Given the description of an element on the screen output the (x, y) to click on. 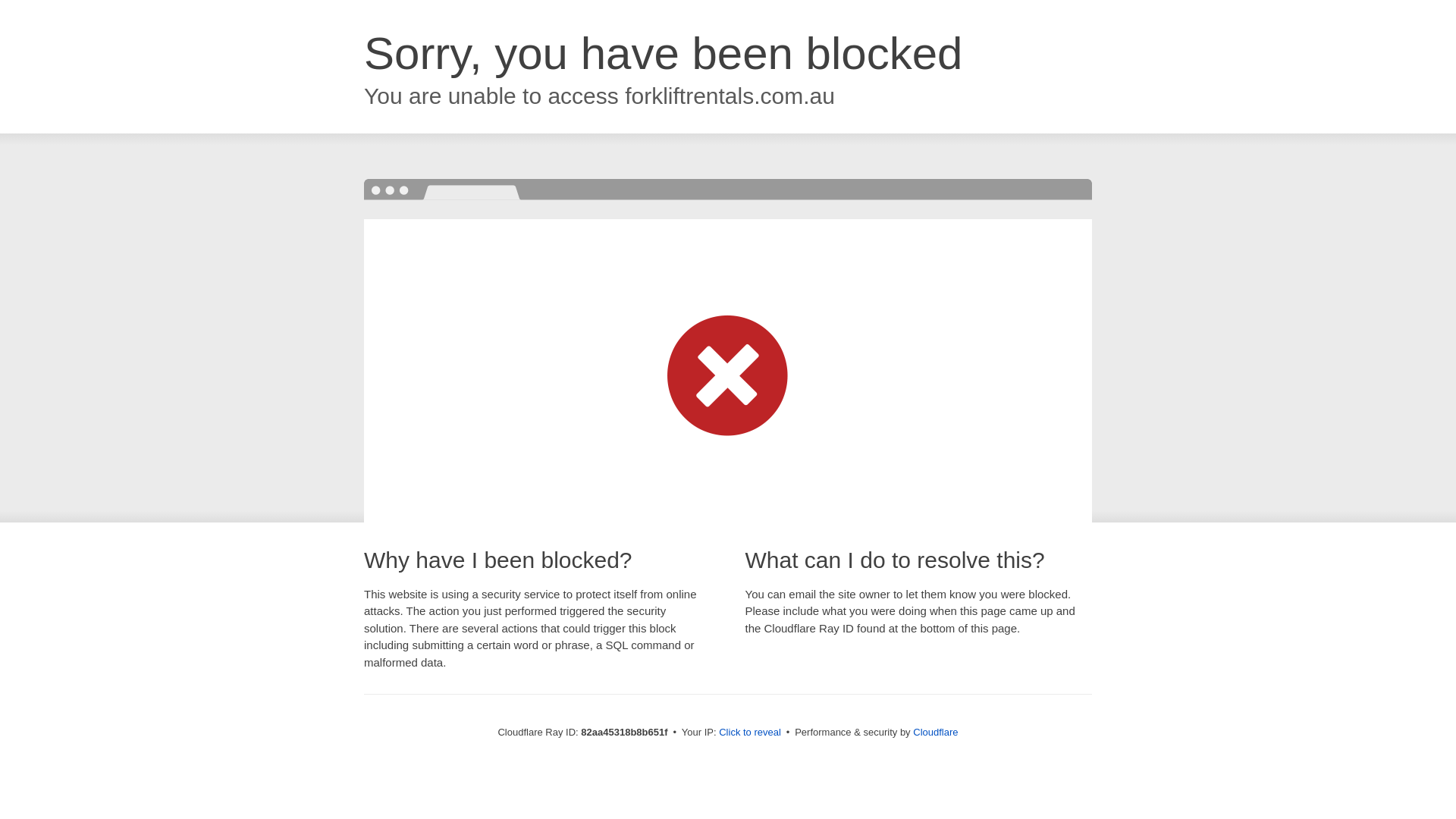
Click to reveal Element type: text (749, 732)
Cloudflare Element type: text (935, 731)
